Given the description of an element on the screen output the (x, y) to click on. 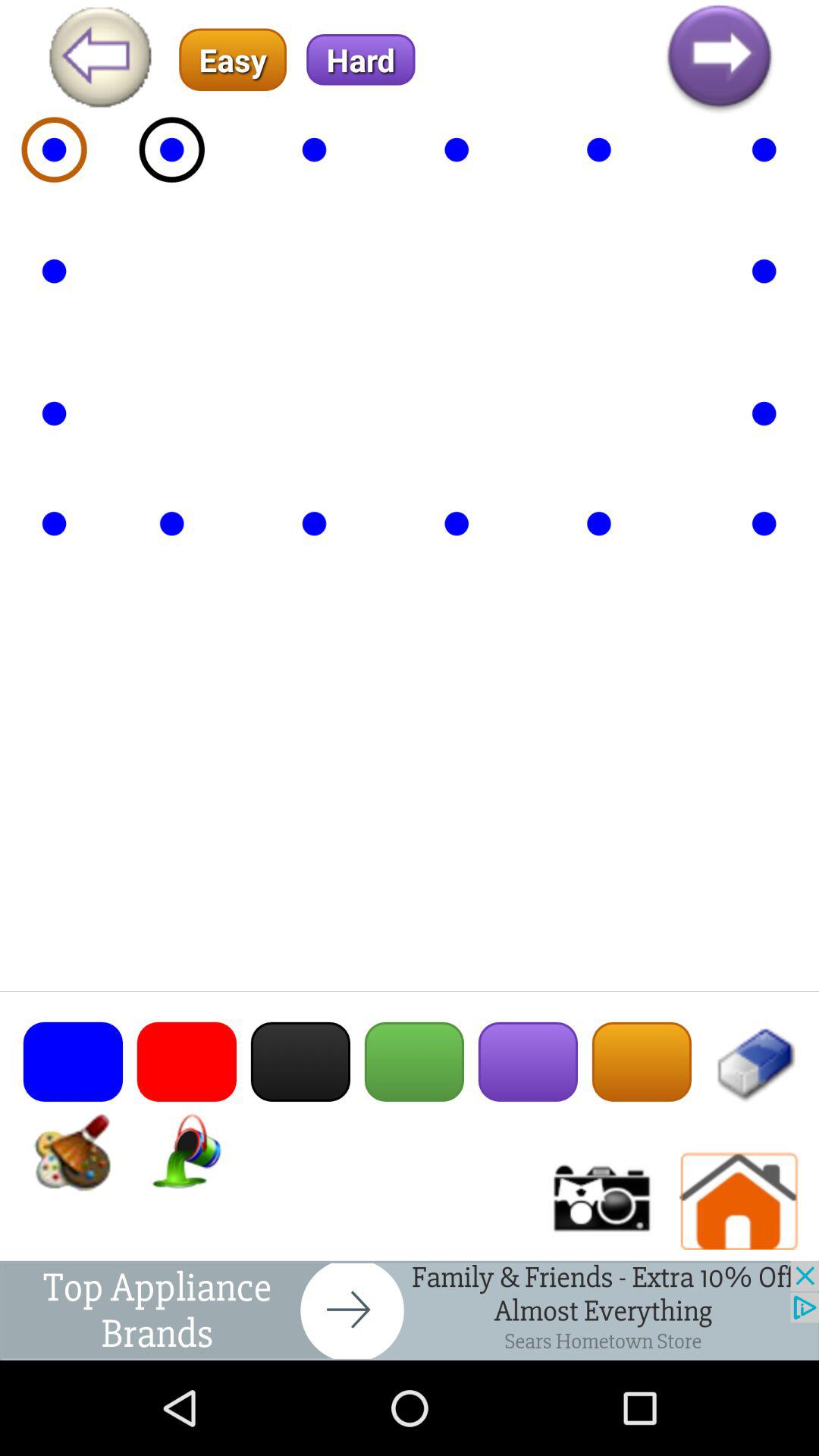
go back (99, 59)
